Given the description of an element on the screen output the (x, y) to click on. 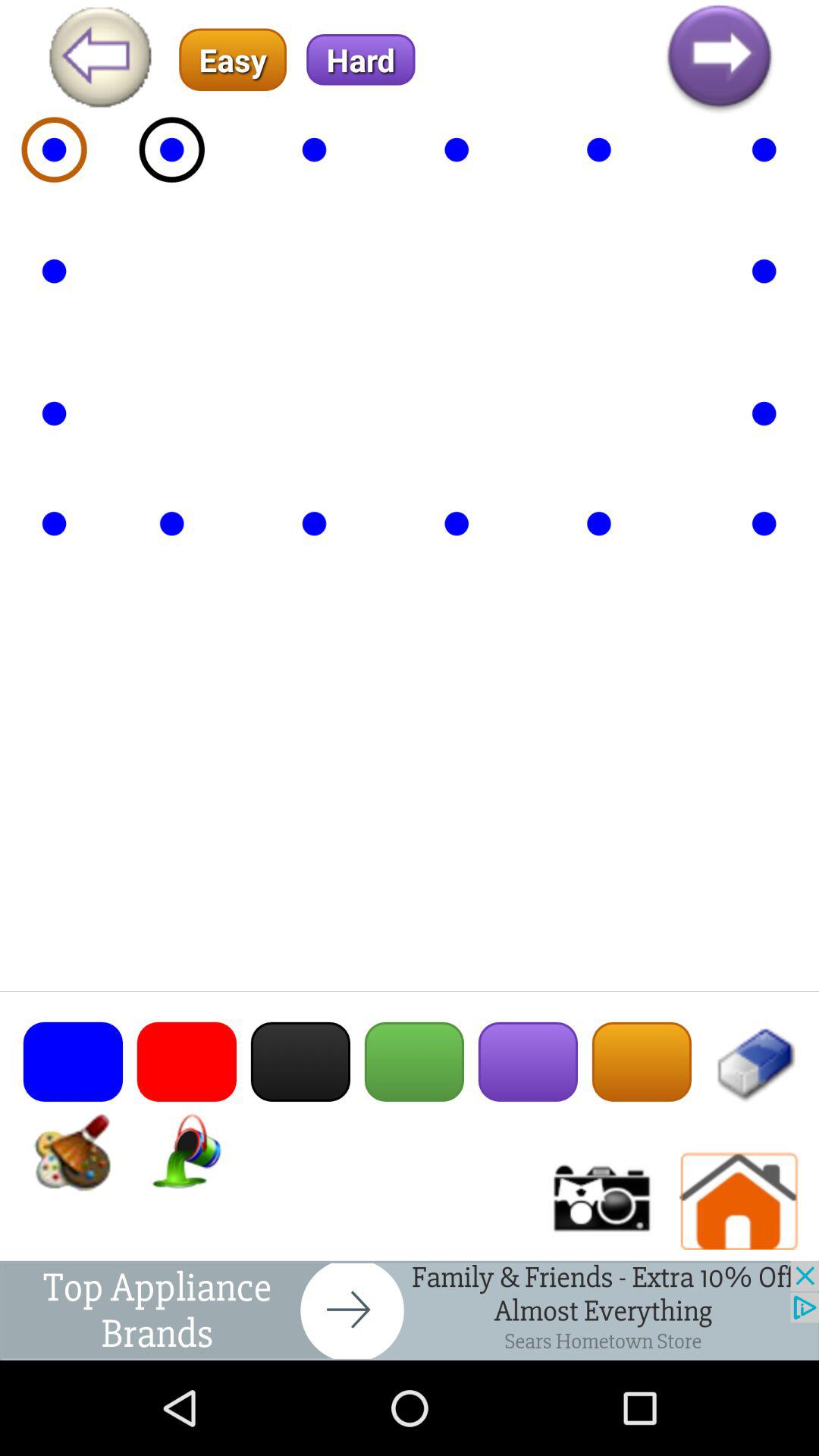
go back (99, 59)
